Given the description of an element on the screen output the (x, y) to click on. 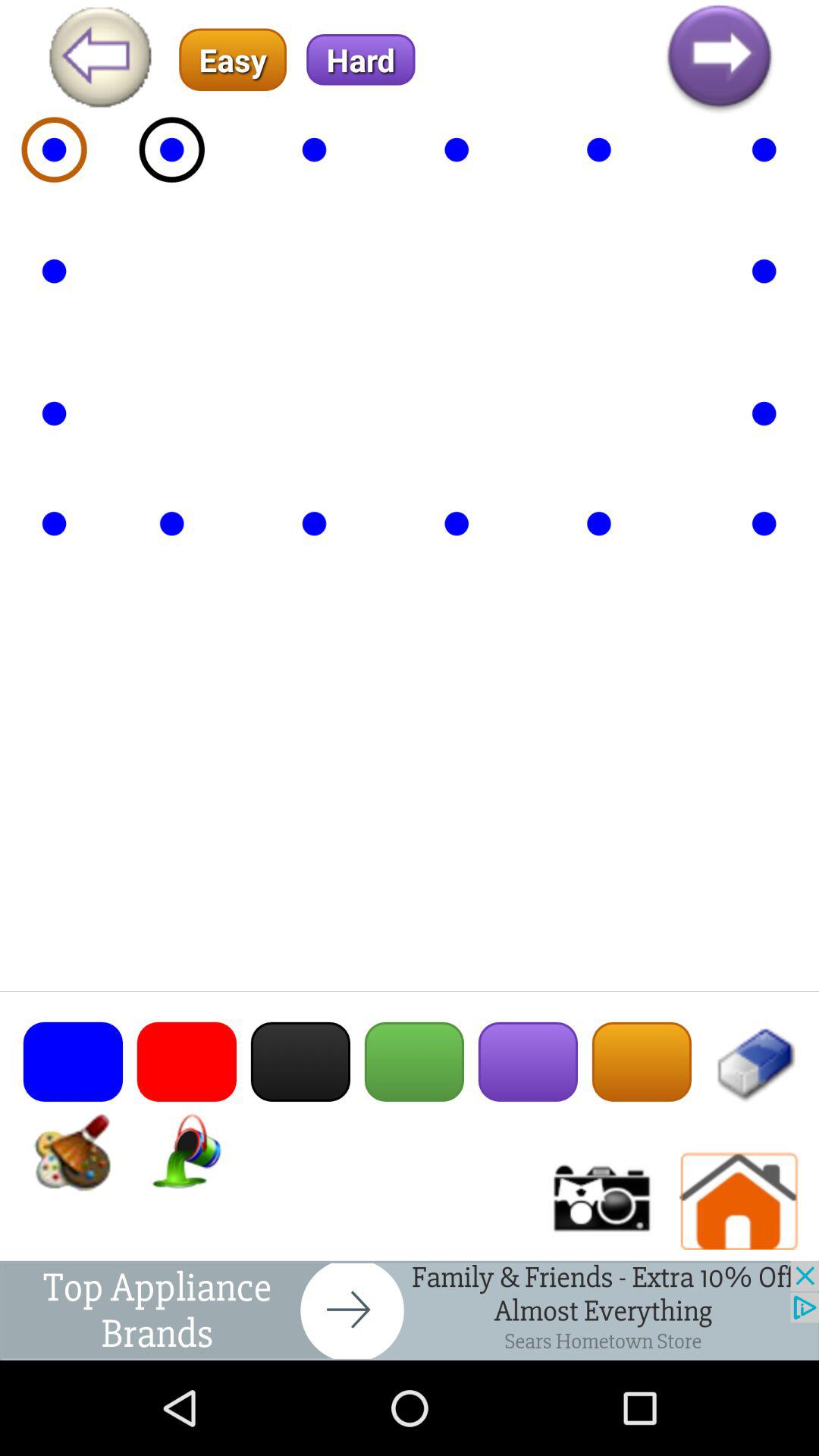
go back (99, 59)
